Given the description of an element on the screen output the (x, y) to click on. 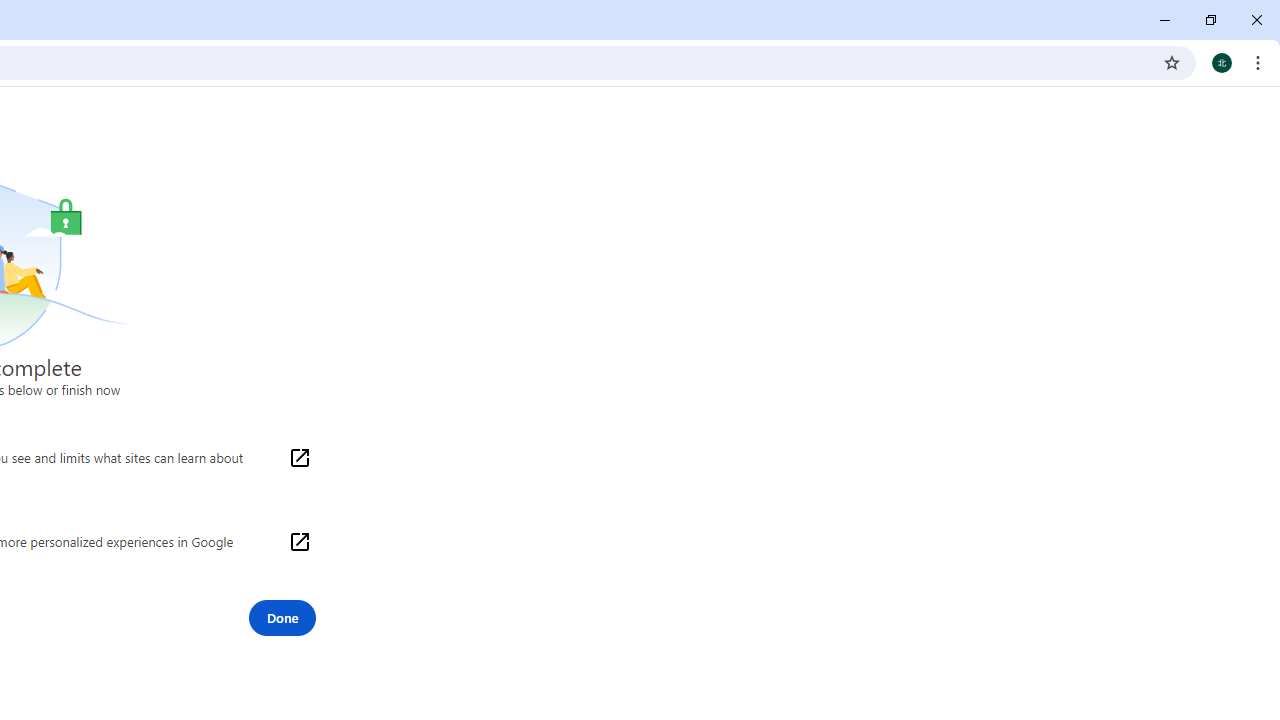
Done (282, 618)
